Given the description of an element on the screen output the (x, y) to click on. 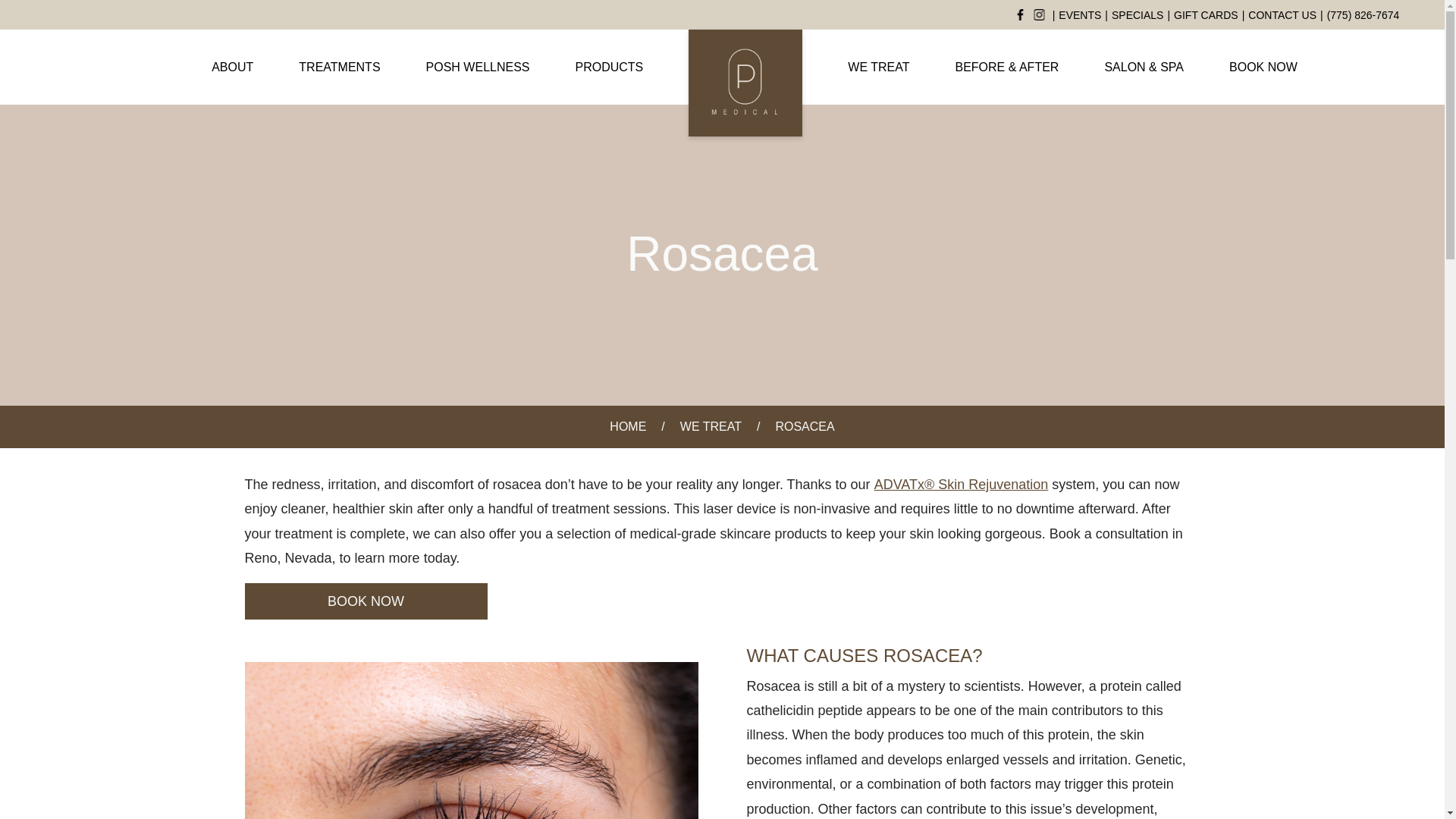
CONTACT US (1281, 14)
TREATMENTS (339, 66)
EVENTS (1079, 14)
PRODUCTS (609, 66)
SPECIALS (1137, 14)
POSH WELLNESS (477, 66)
ABOUT (232, 66)
GIFT CARDS (1206, 14)
